Given the description of an element on the screen output the (x, y) to click on. 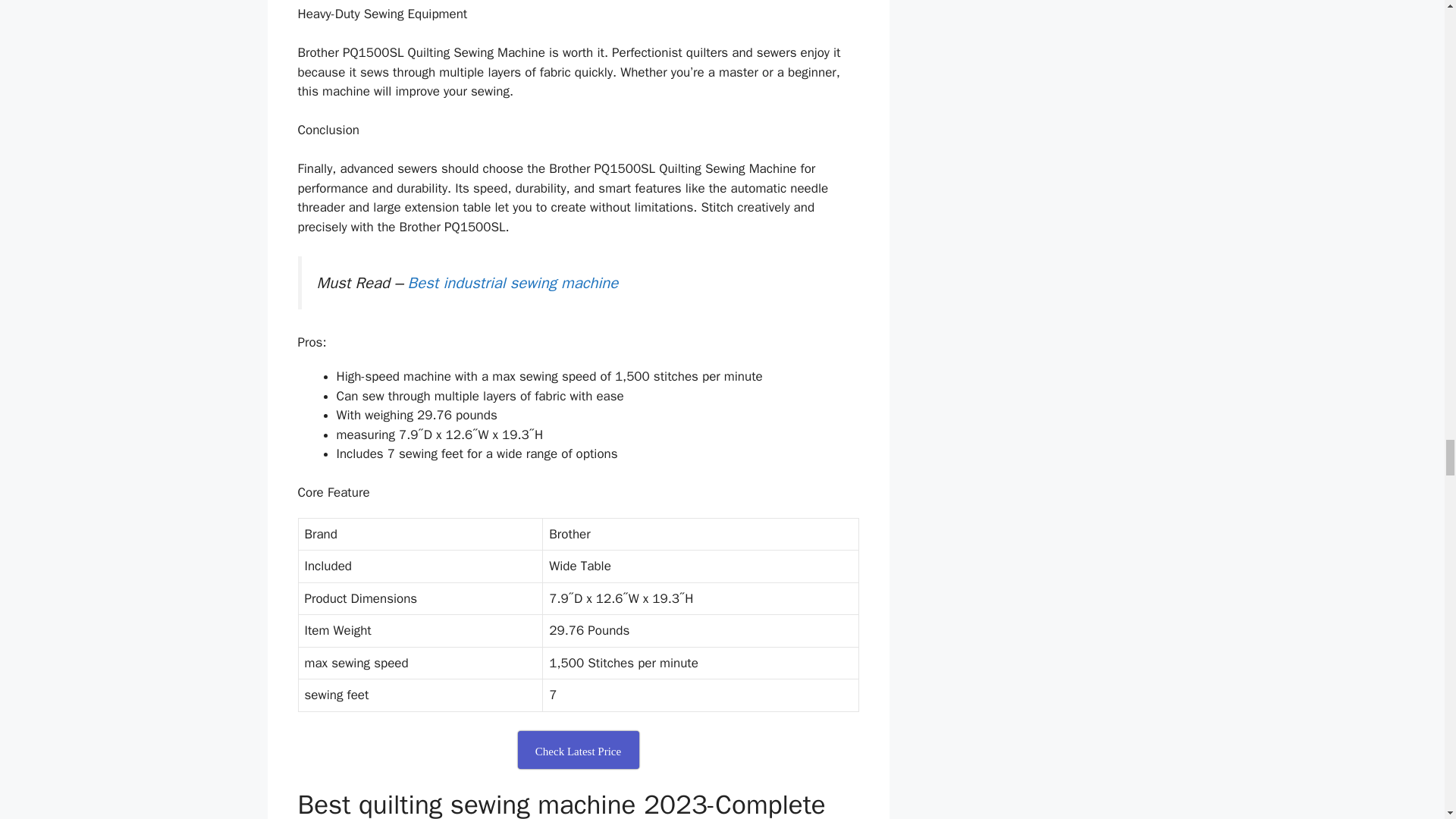
Best industrial sewing machine (512, 282)
Check Latest Price (577, 750)
